Given the description of an element on the screen output the (x, y) to click on. 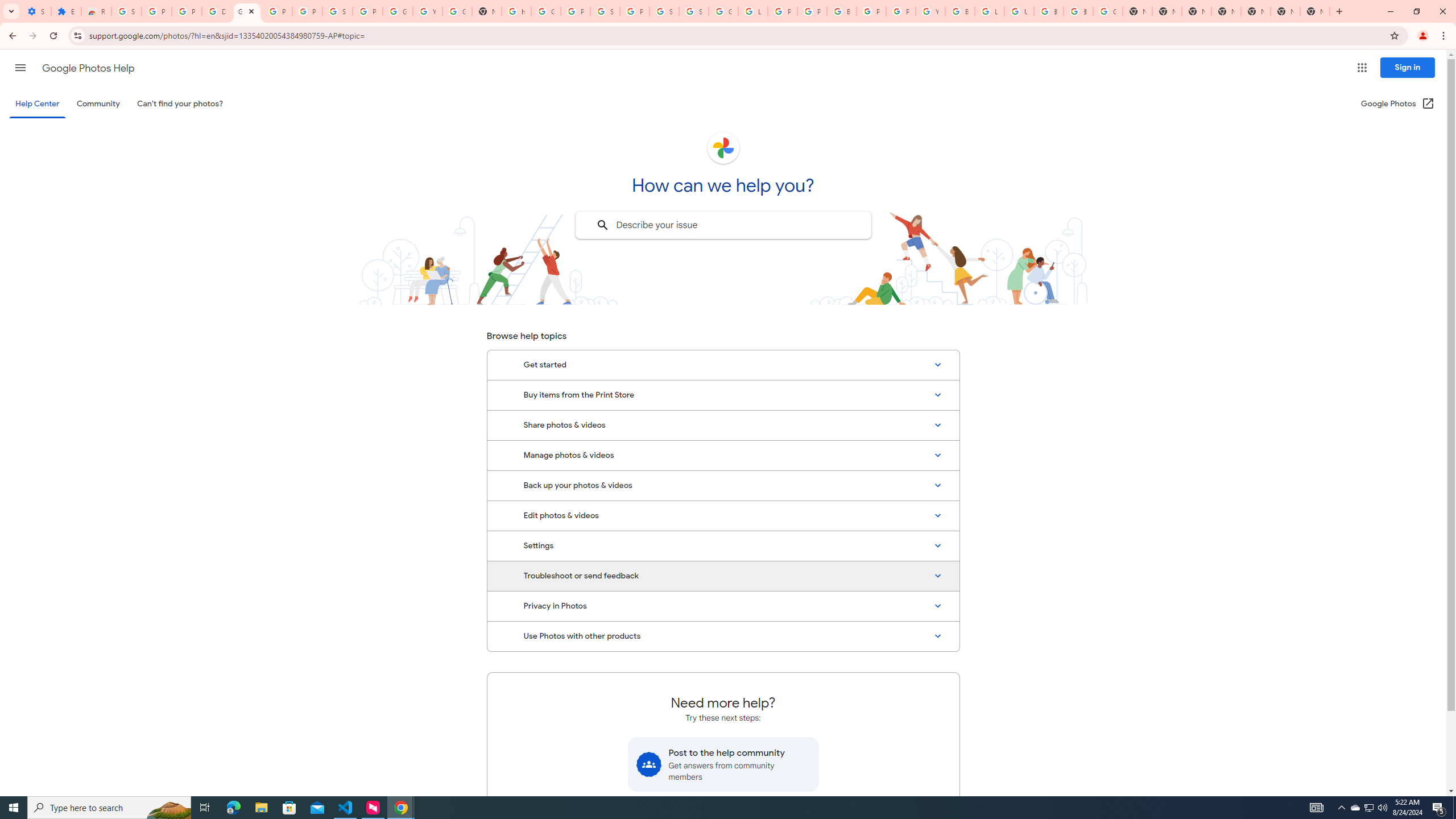
Can't find your photos? (180, 103)
Get started (722, 365)
New Tab (1314, 11)
New Tab (1226, 11)
Main menu (20, 67)
Back up your photos & videos (722, 485)
YouTube (426, 11)
Google Photos Help (87, 68)
